Given the description of an element on the screen output the (x, y) to click on. 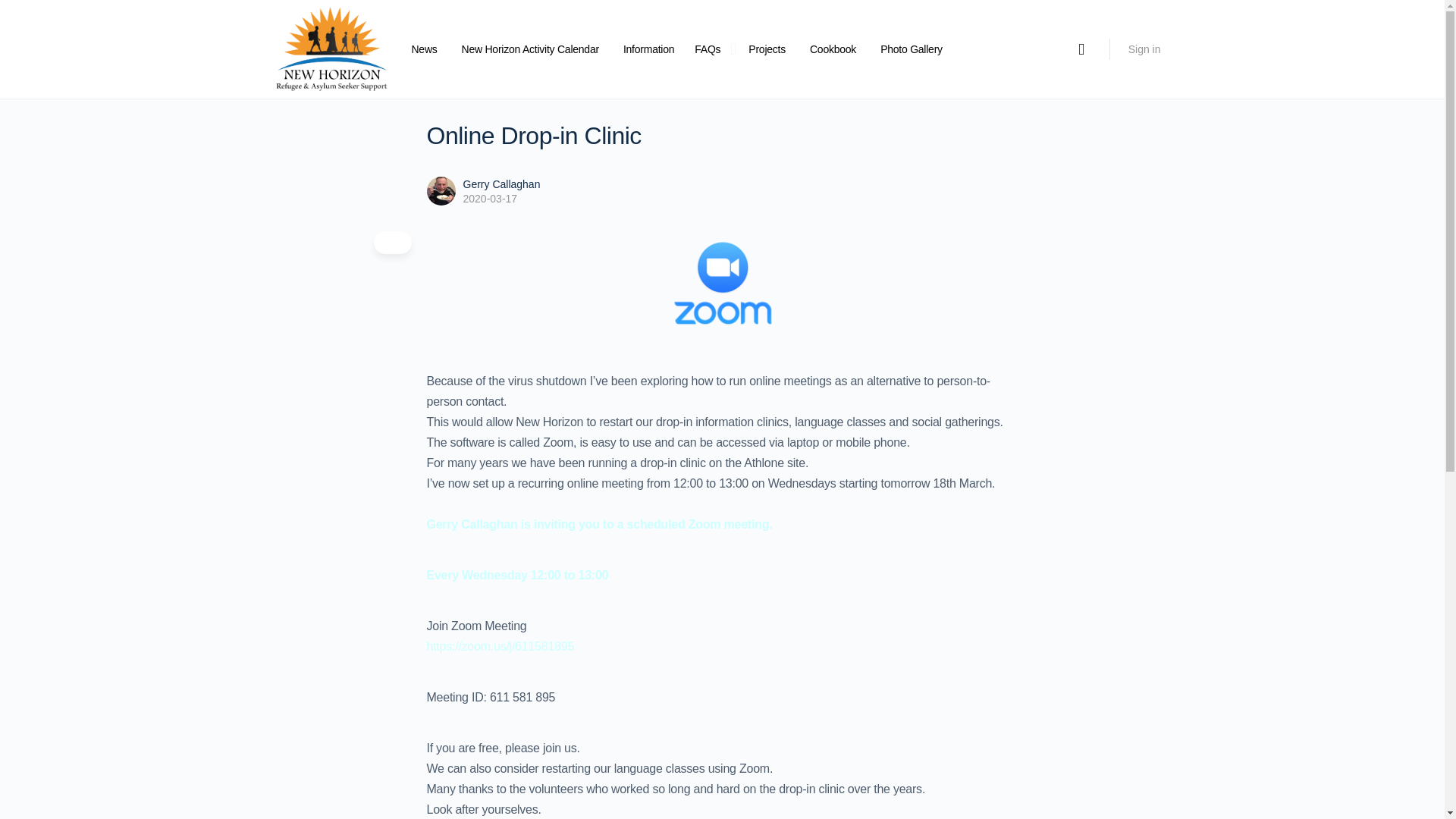
Photo Gallery (911, 48)
2020-03-17 (489, 198)
Sign in (1144, 49)
Gerry Callaghan (501, 184)
New Horizon Activity Calendar (529, 48)
